Given the description of an element on the screen output the (x, y) to click on. 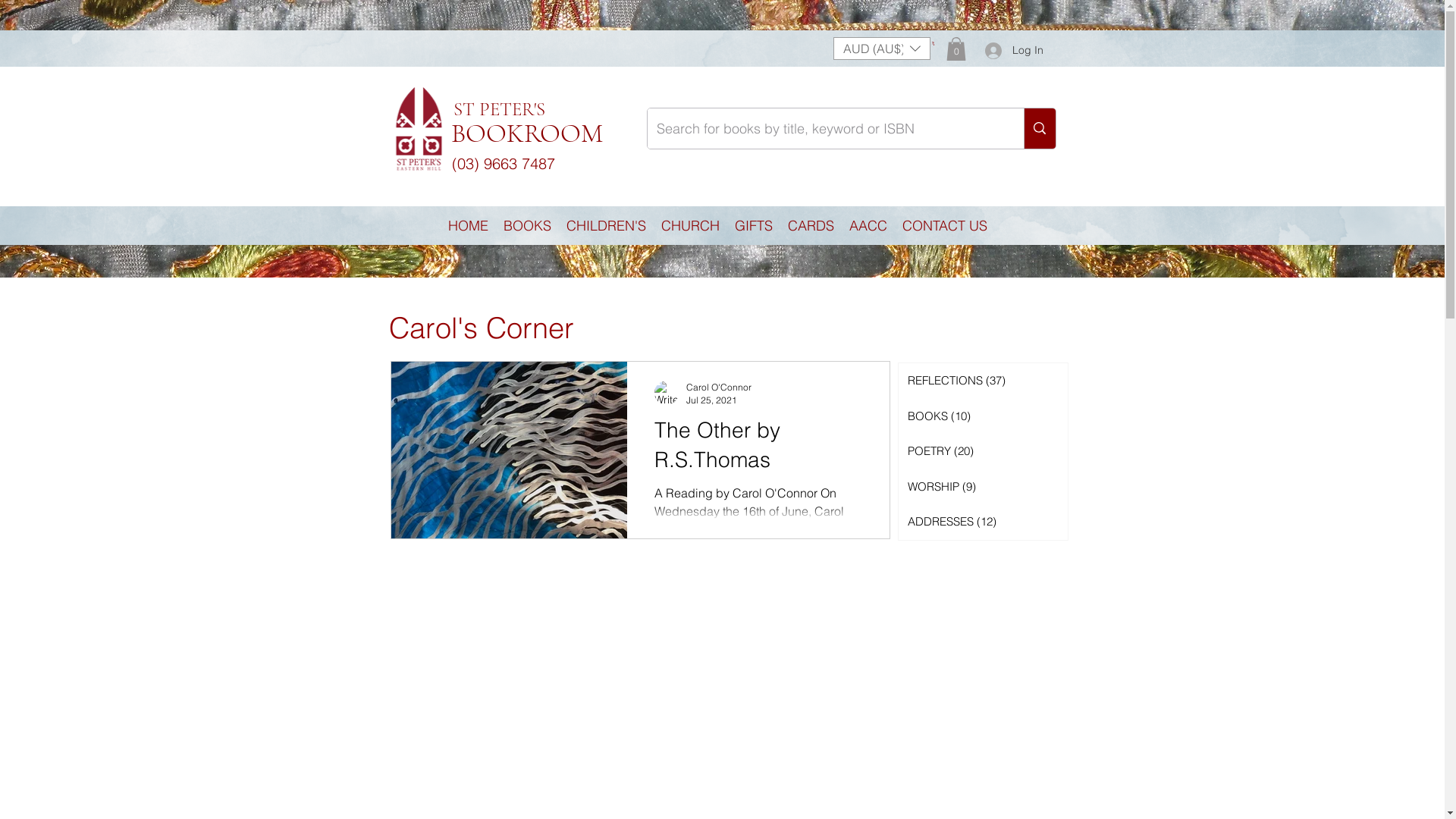
CHURCH Element type: text (690, 225)
BOOKS Element type: text (526, 225)
ADDRESSES (12) Element type: text (981, 521)
CONTACT US Element type: text (944, 225)
GIFTS Element type: text (753, 225)
POETRY (20) Element type: text (981, 451)
0 Element type: text (956, 48)
CARDS Element type: text (810, 225)
REFLECTIONS (37) Element type: text (981, 380)
CHILDREN'S Element type: text (605, 225)
AUD (AU$) Element type: text (880, 48)
0 Element type: text (932, 43)
BOOKS (10) Element type: text (981, 416)
HOME Element type: text (467, 225)
AACC Element type: text (867, 225)
The Other by R.S.Thomas Element type: text (757, 448)
Carol O'Connor Element type: text (717, 386)
Log In Element type: text (1013, 50)
WORSHIP (9) Element type: text (981, 487)
